Given the description of an element on the screen output the (x, y) to click on. 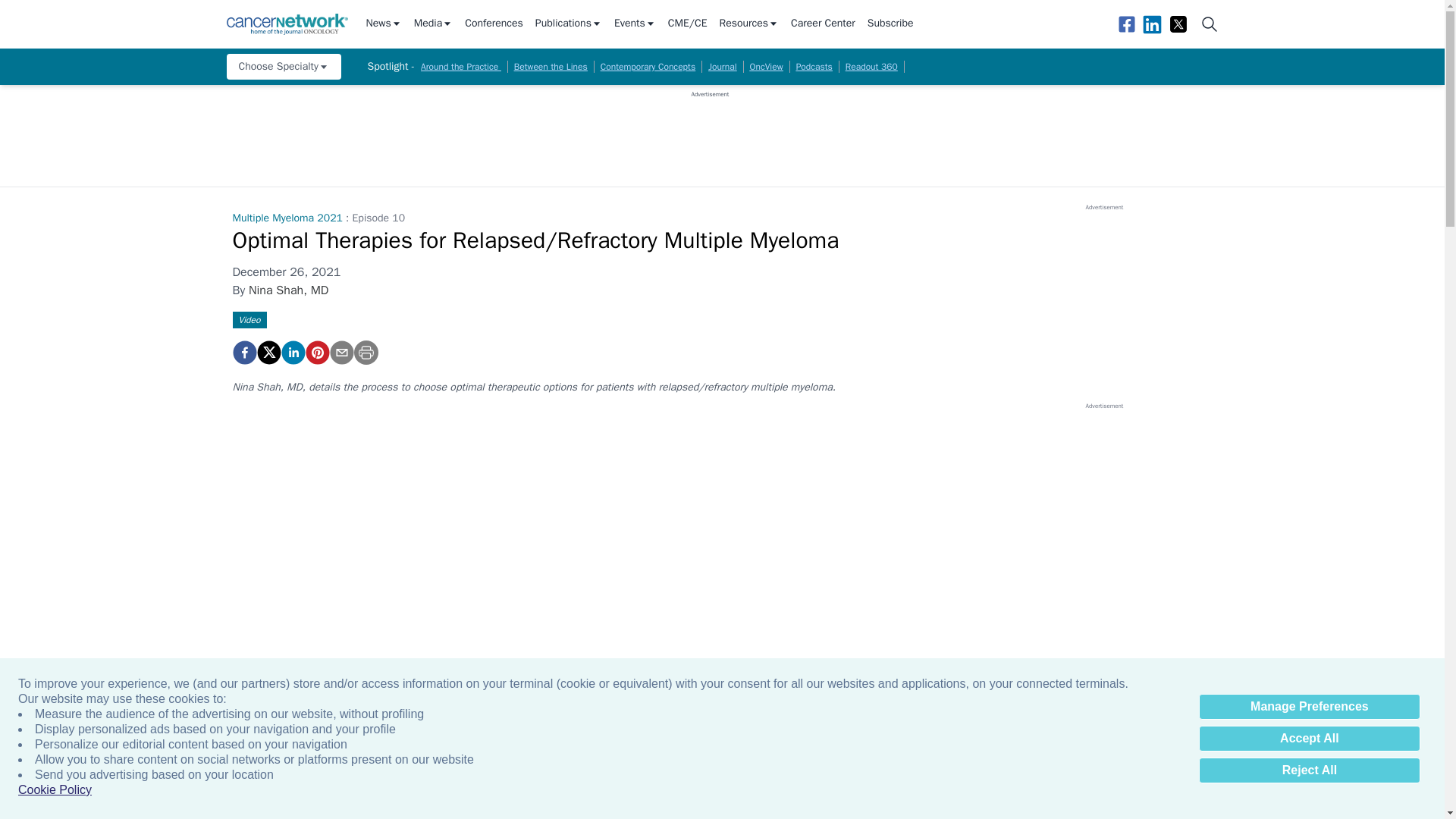
Accept All (1309, 738)
Conferences (493, 23)
Events (635, 23)
Reject All (1309, 769)
Media (432, 23)
3rd party ad content (709, 132)
News (383, 23)
Publications (568, 23)
Cookie Policy (54, 789)
Manage Preferences (1309, 706)
